Given the description of an element on the screen output the (x, y) to click on. 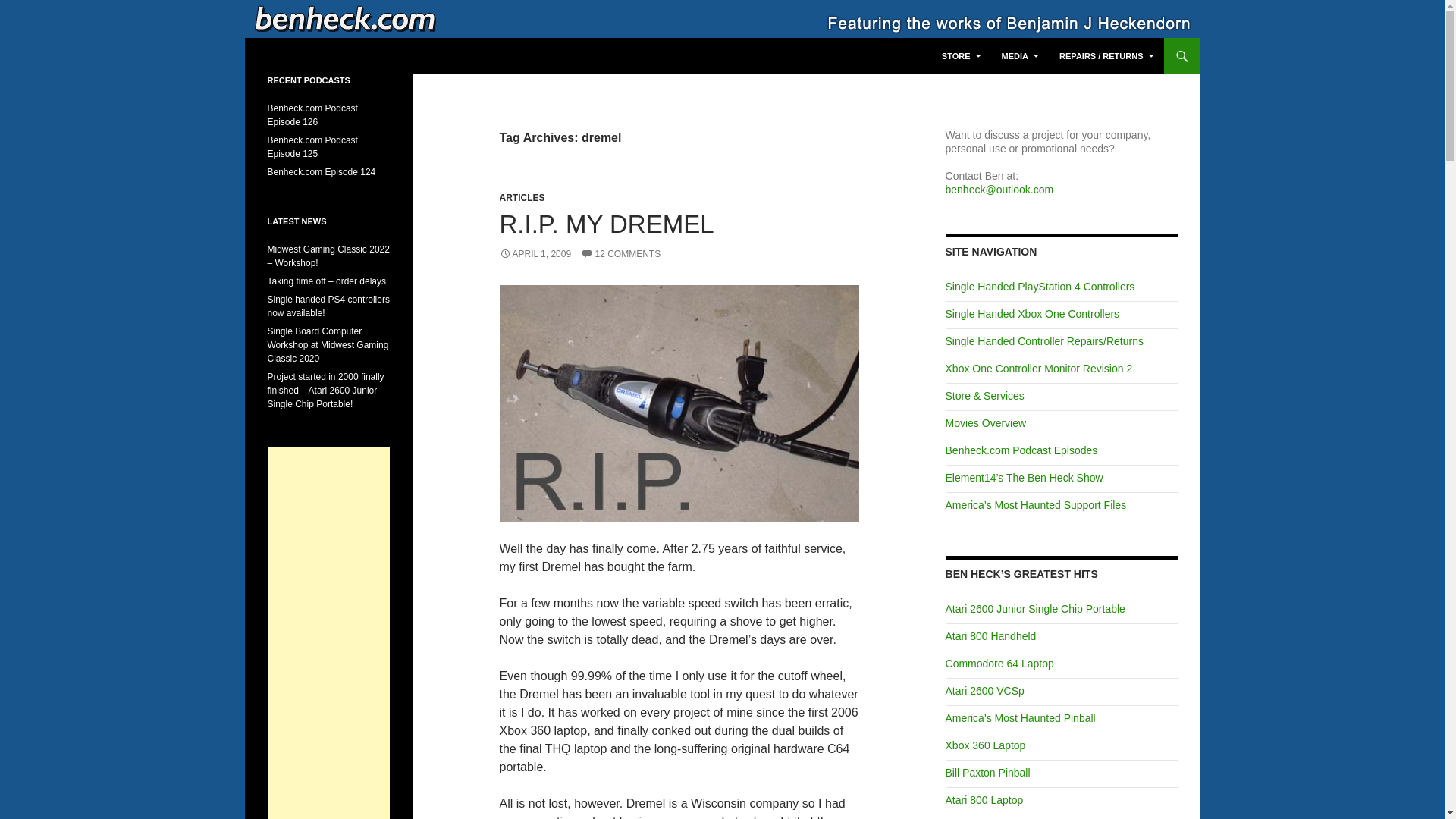
12 COMMENTS (620, 253)
Single Handed PlayStation 4 Controllers (1039, 286)
MEDIA (1020, 55)
STORE (961, 55)
R.I.P. MY DREMEL (606, 223)
Xbox One Controller Monitor Revision 2 (1038, 368)
Atari 800 Handheld (990, 635)
APRIL 1, 2009 (534, 253)
Movies Overview (985, 422)
Commodore 64 Laptop (999, 663)
ARTICLES (521, 197)
Web Portal for Benjamin J Heckendorn (392, 55)
Atari 2600 Junior Single Chip Portable (1034, 608)
